Given the description of an element on the screen output the (x, y) to click on. 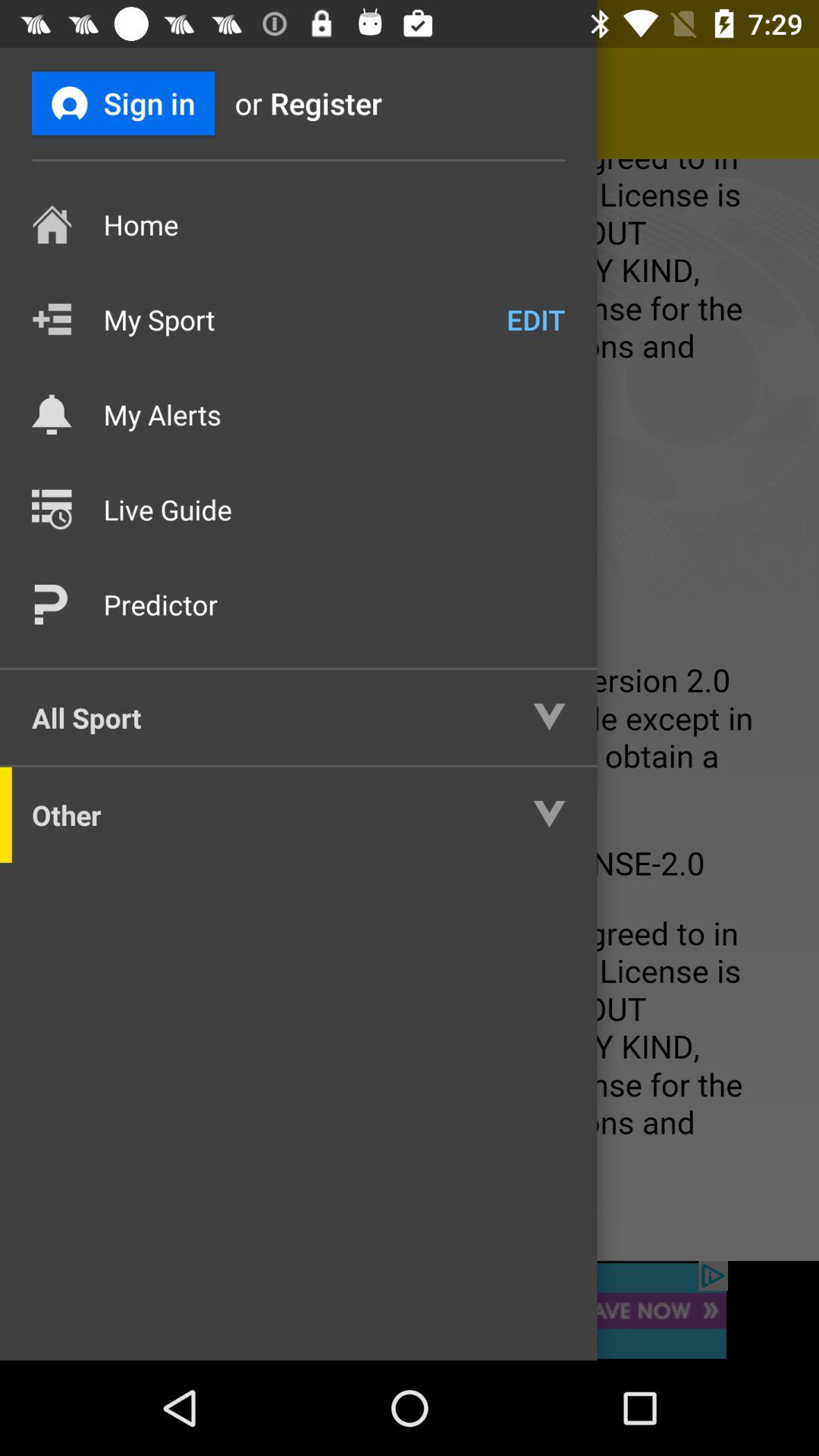
jump until the sign in item (122, 103)
